Given the description of an element on the screen output the (x, y) to click on. 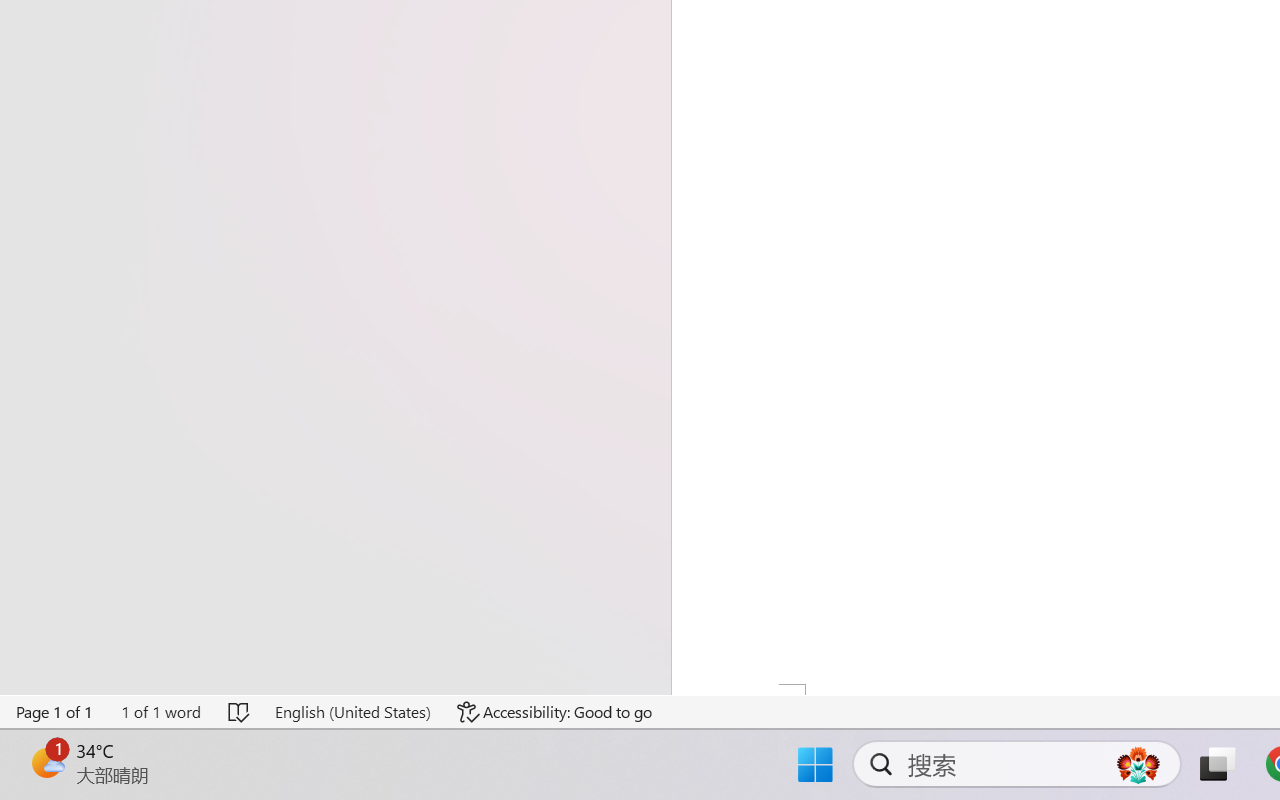
Page Number Page 1 of 1 (55, 712)
